Given the description of an element on the screen output the (x, y) to click on. 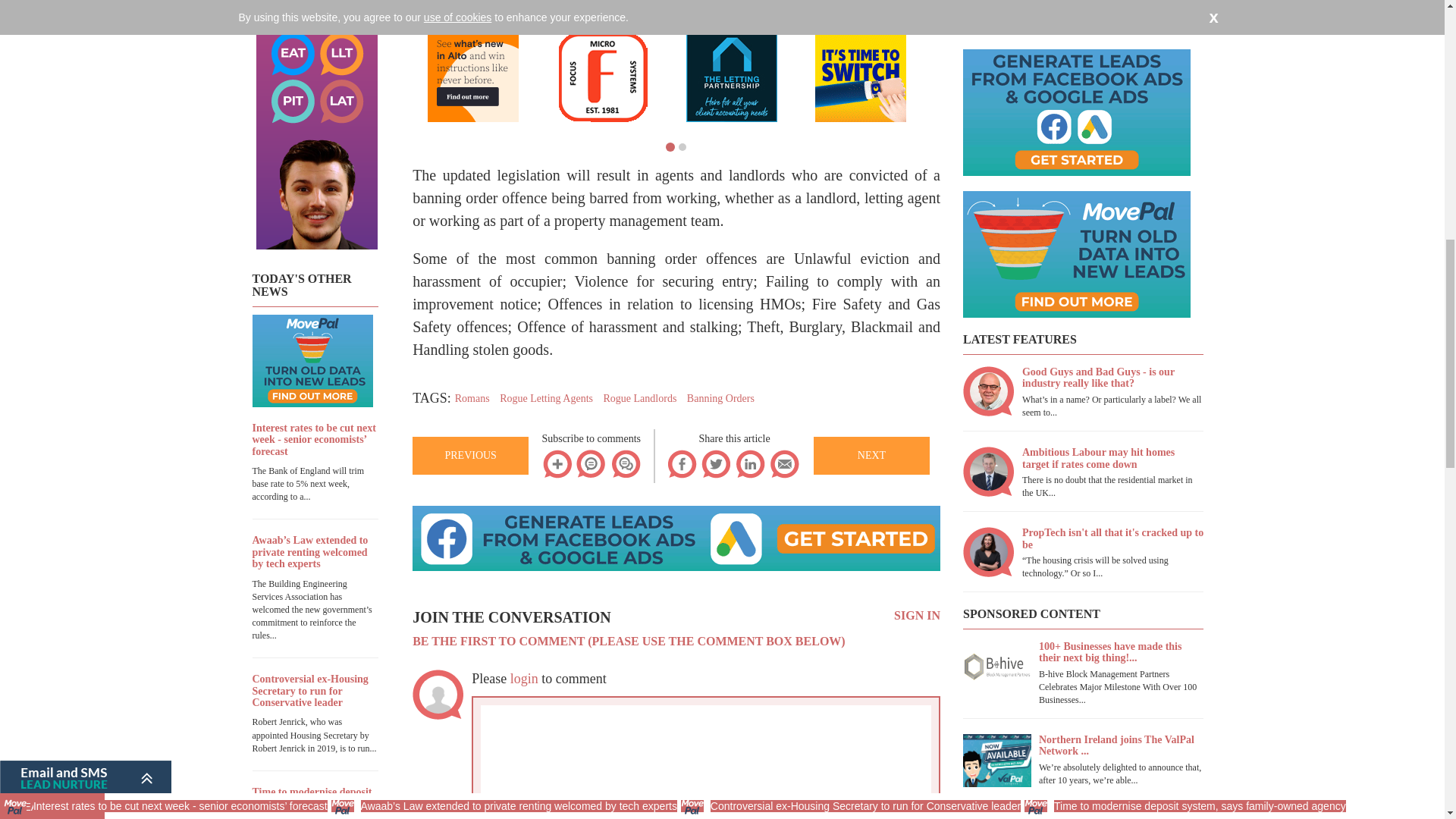
Focus Property (601, 76)
Tenancy Deposit Scheme (860, 76)
Save for later (556, 463)
The Letting Partnership (731, 76)
Alto - Zoopla (473, 76)
Comment (871, 811)
